Given the description of an element on the screen output the (x, y) to click on. 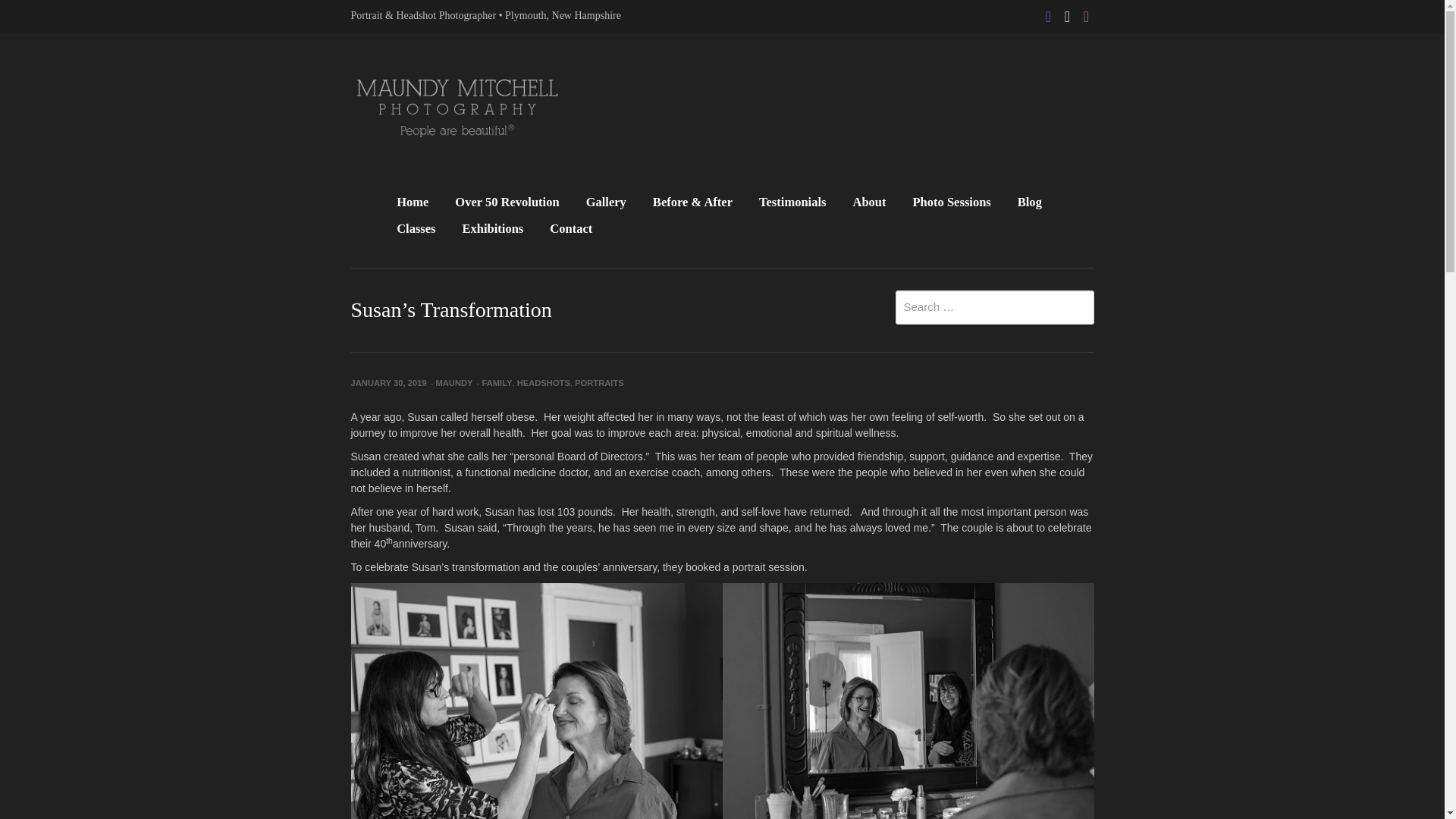
Maundy Mitchell Photography Email (1067, 12)
PORTRAITS (599, 382)
About (868, 203)
Over 50 Revolution (506, 203)
Contact (571, 229)
FAMILY (496, 382)
View all posts by Maundy (453, 382)
Maundy Mitchell Photography Facebook (1048, 12)
Blog (1029, 203)
HEADSHOTS (543, 382)
